Given the description of an element on the screen output the (x, y) to click on. 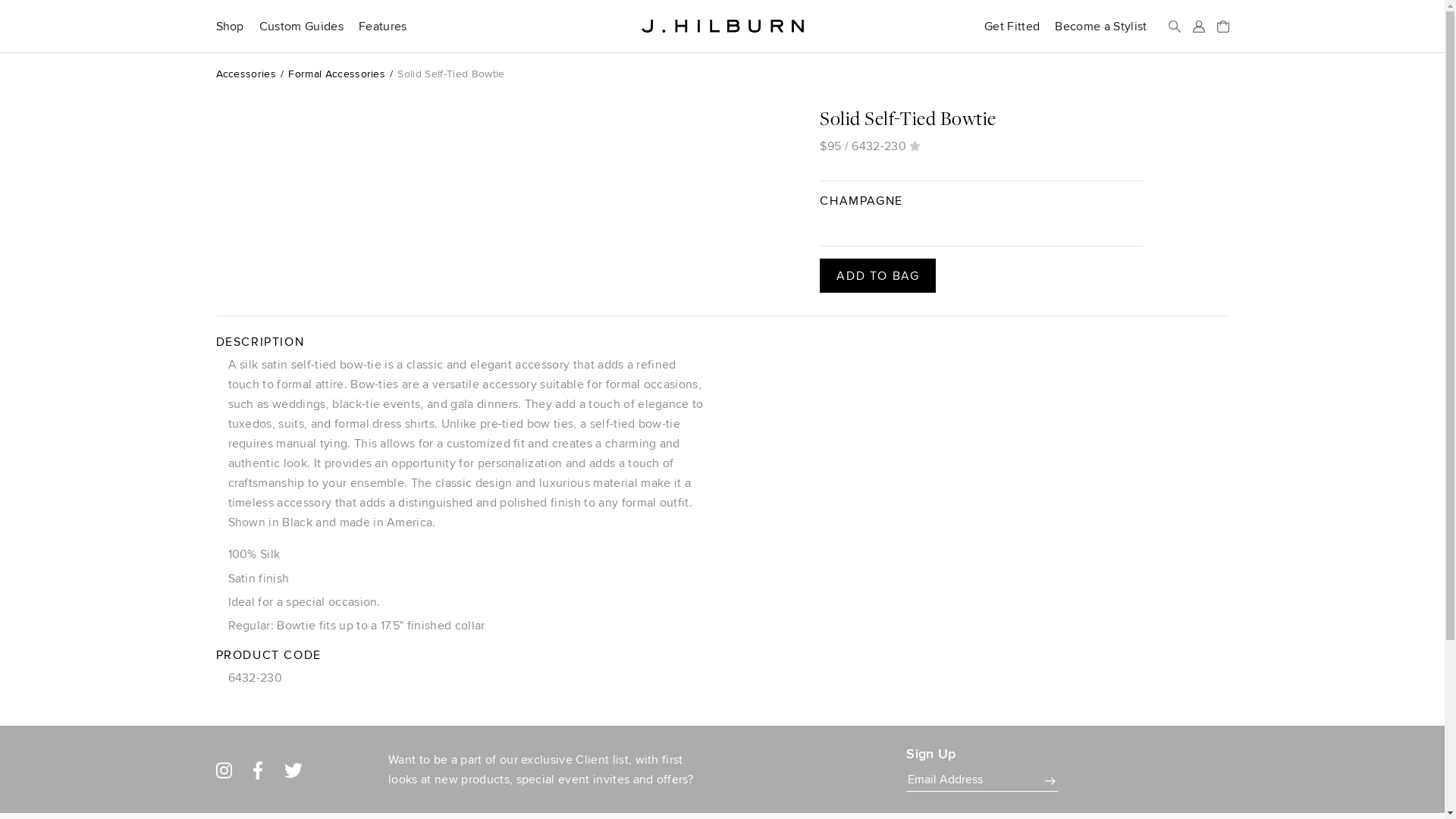
Add to Bag (877, 275)
J.Hilburn (721, 25)
